Given the description of an element on the screen output the (x, y) to click on. 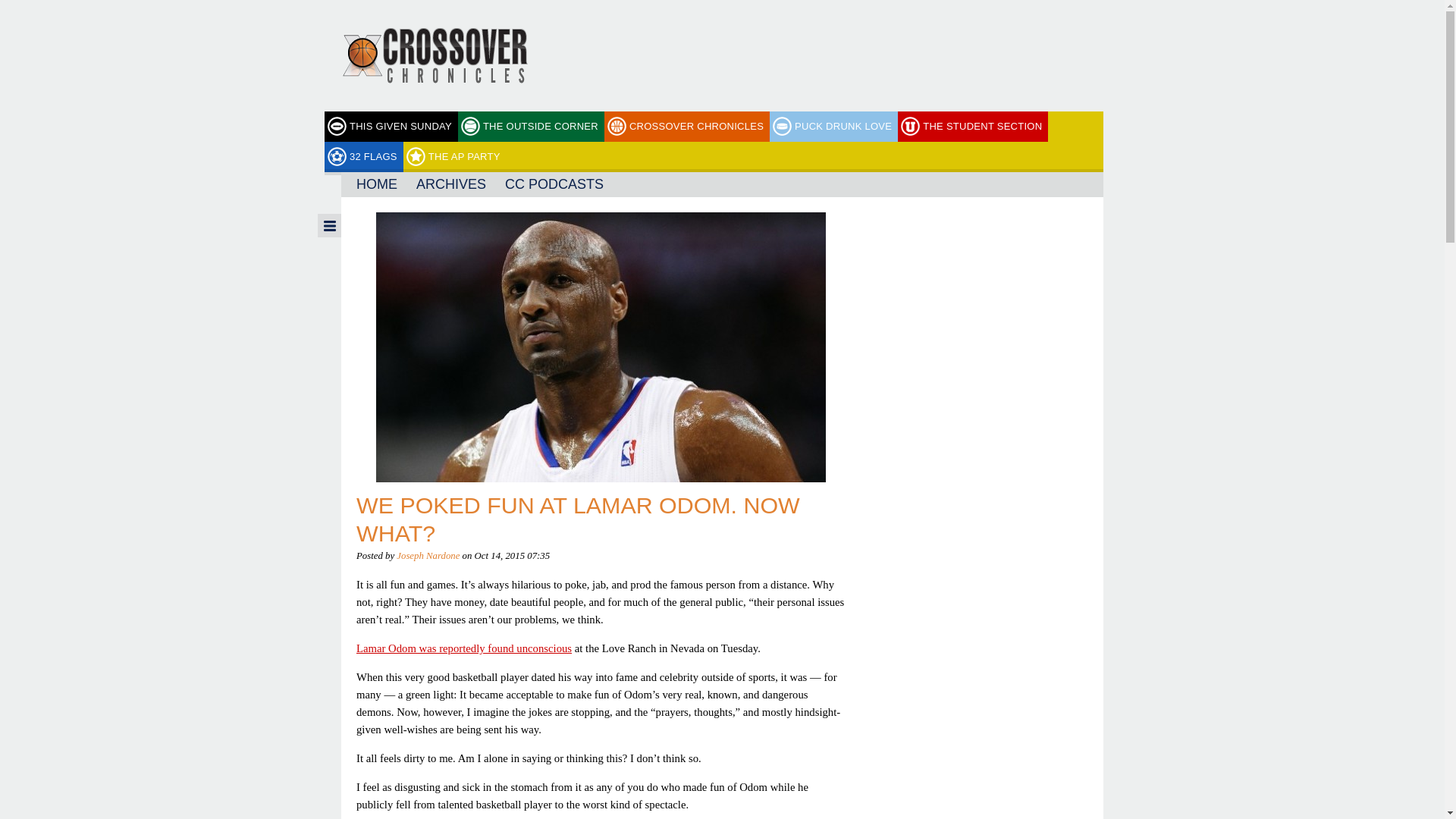
ARCHIVES (451, 184)
WE POKED FUN AT LAMAR ODOM. NOW WHAT? (577, 519)
THIS GIVEN SUNDAY (391, 126)
Lamar Odom was reportedly found unconscious (464, 648)
THE OUTSIDE CORNER (531, 126)
Joseph Nardone (428, 555)
CROSSOVER CHRONICLES (687, 126)
We Poked Fun at Lamar Odom. Now What? (577, 519)
HOME (376, 184)
PUCK DRUNK LOVE (834, 126)
32 FLAGS (363, 156)
THE AP PARTY (454, 156)
CC PODCASTS (554, 184)
THE STUDENT SECTION (973, 126)
